Given the description of an element on the screen output the (x, y) to click on. 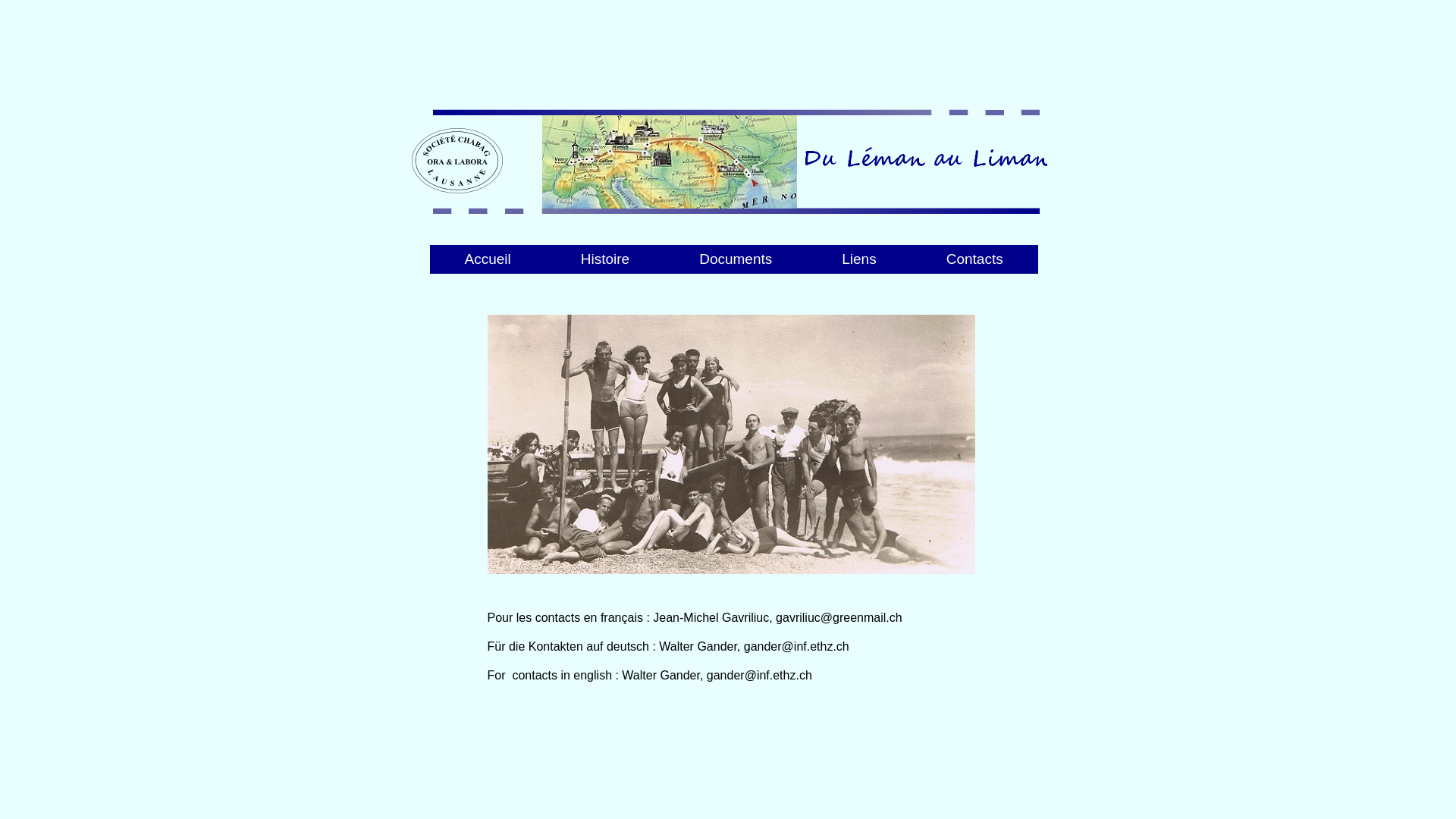
Contacts Element type: text (598, 378)
Histoire Element type: text (476, 340)
Documents Element type: text (598, 339)
Liens Element type: text (476, 378)
